Given the description of an element on the screen output the (x, y) to click on. 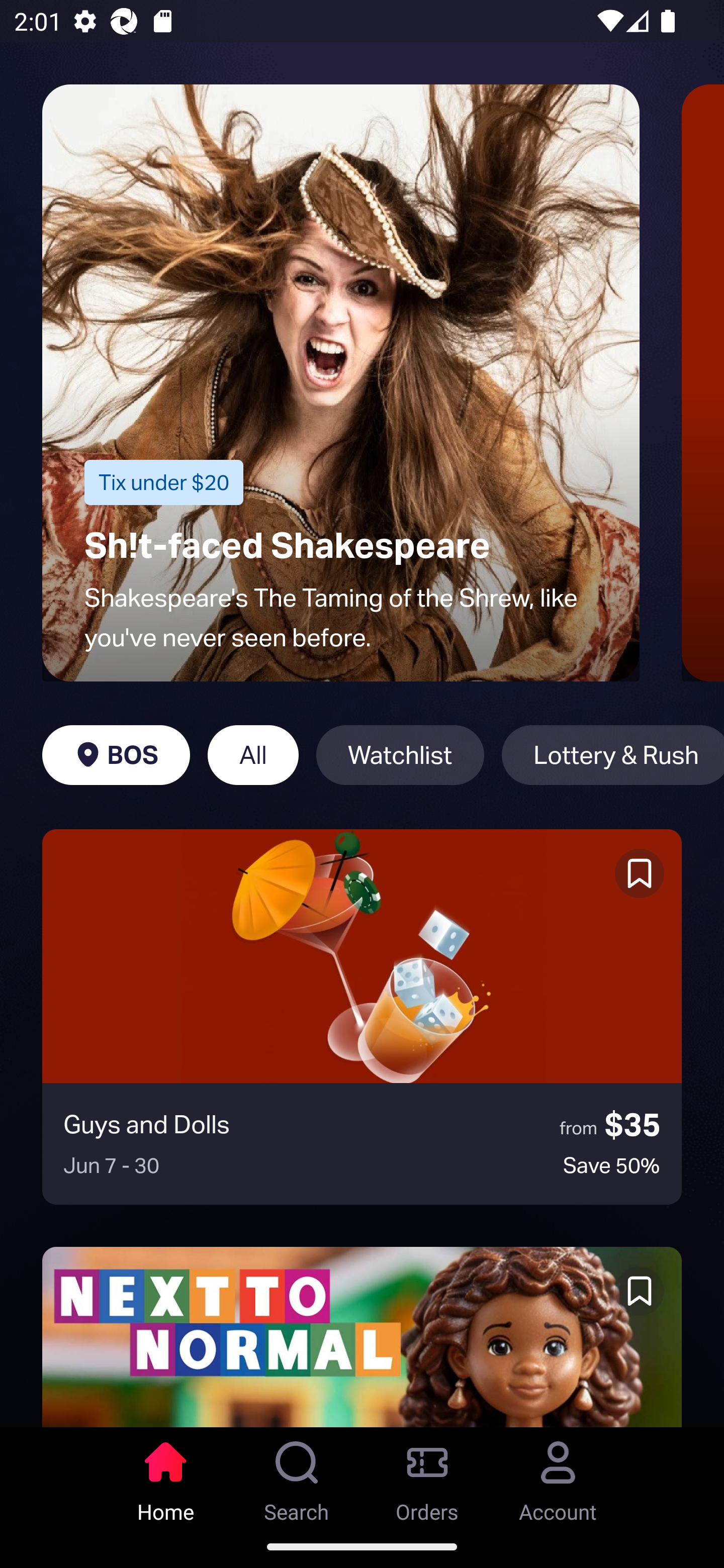
BOS (115, 754)
All (252, 754)
Watchlist (400, 754)
Lottery & Rush (612, 754)
Guys and Dolls from $35 Jun 7 - 30 Save 50% (361, 1016)
Search (296, 1475)
Orders (427, 1475)
Account (558, 1475)
